Given the description of an element on the screen output the (x, y) to click on. 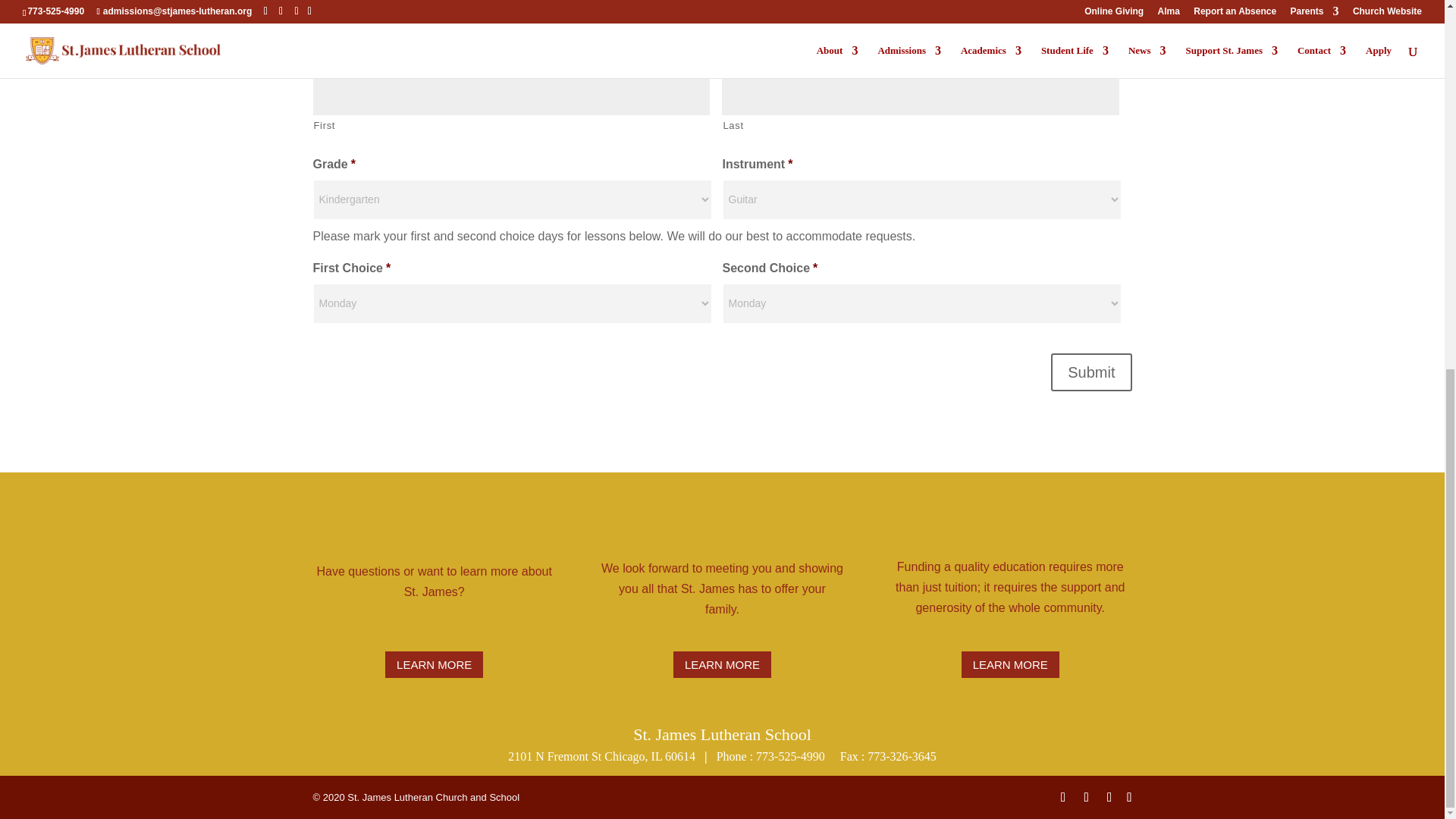
Submit (1091, 371)
